Given the description of an element on the screen output the (x, y) to click on. 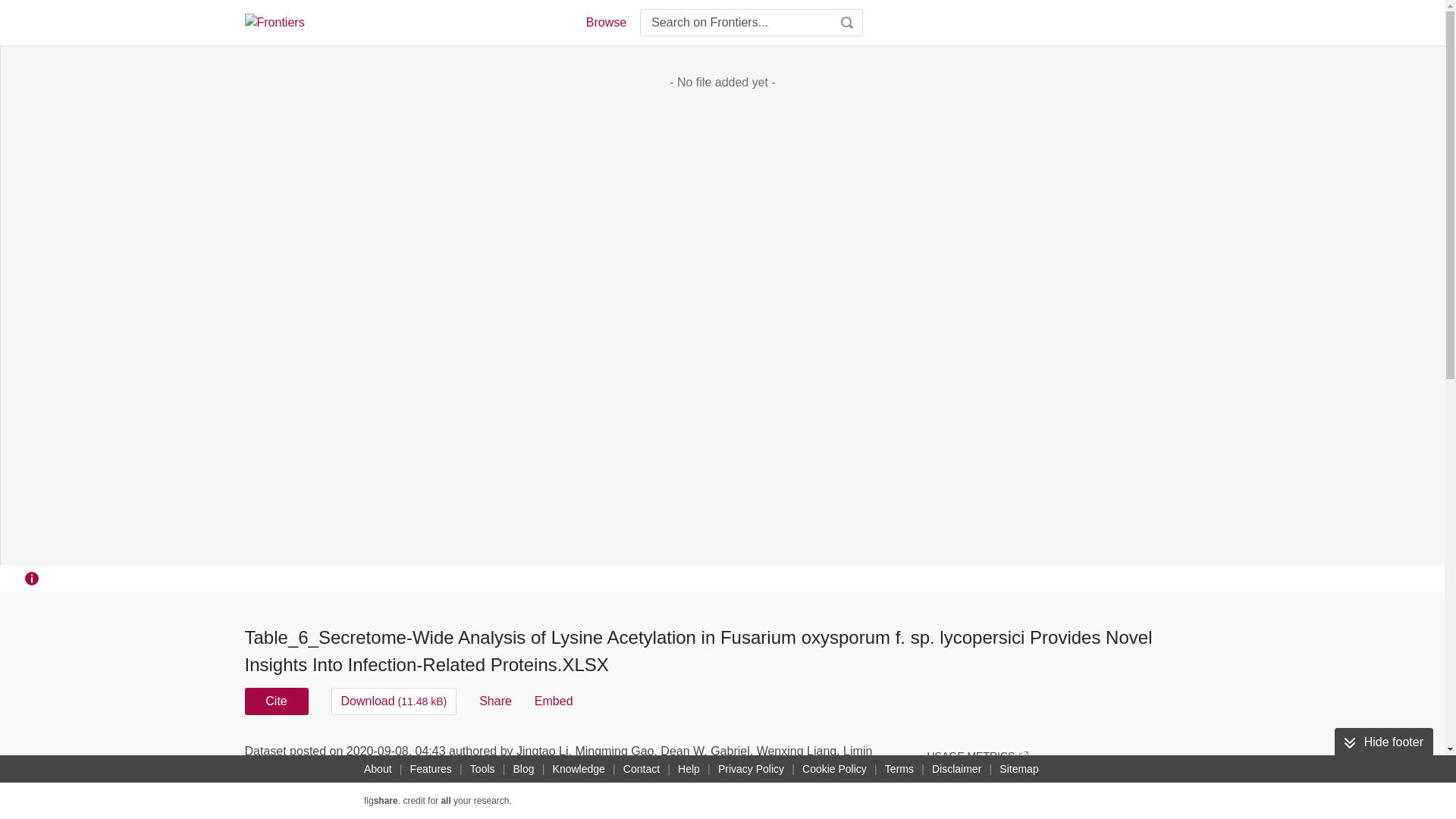
Browse (605, 22)
Share (495, 700)
Features (431, 769)
About (377, 769)
Cite (275, 700)
Blog (523, 769)
Help (688, 769)
Privacy Policy (751, 769)
Knowledge (579, 769)
Hide footer (1383, 742)
